Given the description of an element on the screen output the (x, y) to click on. 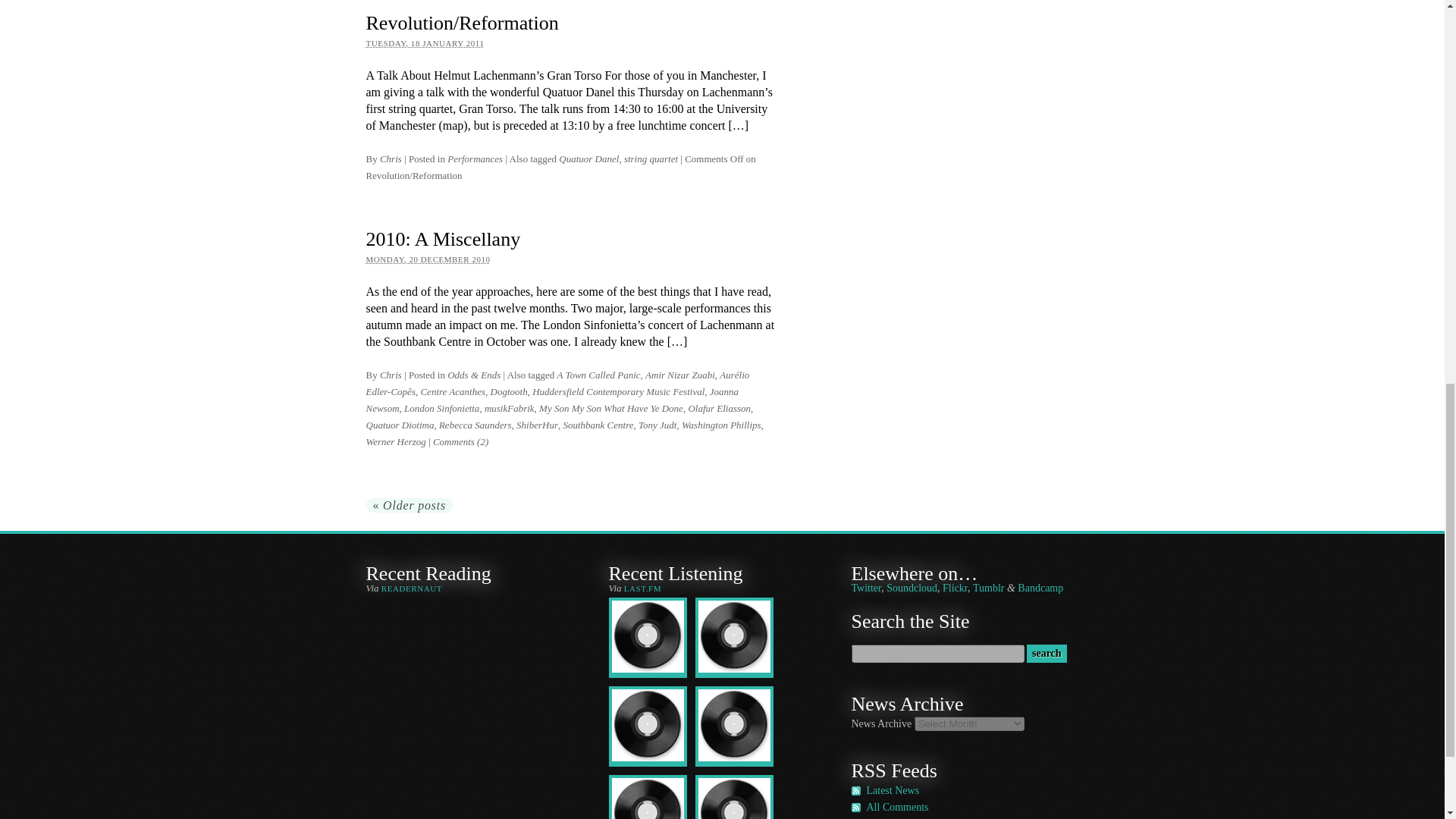
View all posts by Chris (390, 374)
Quatuor Danel (588, 158)
A Town Called Panic (598, 374)
Performances (474, 158)
2010: A Miscellany (442, 239)
Permalink to 2010: A Miscellany (442, 239)
Chris Swithinbank Posts RSS feed (892, 790)
Search (1046, 653)
string quartet (651, 158)
Chris (390, 158)
Chris (390, 374)
View all posts by Chris (390, 158)
